Given the description of an element on the screen output the (x, y) to click on. 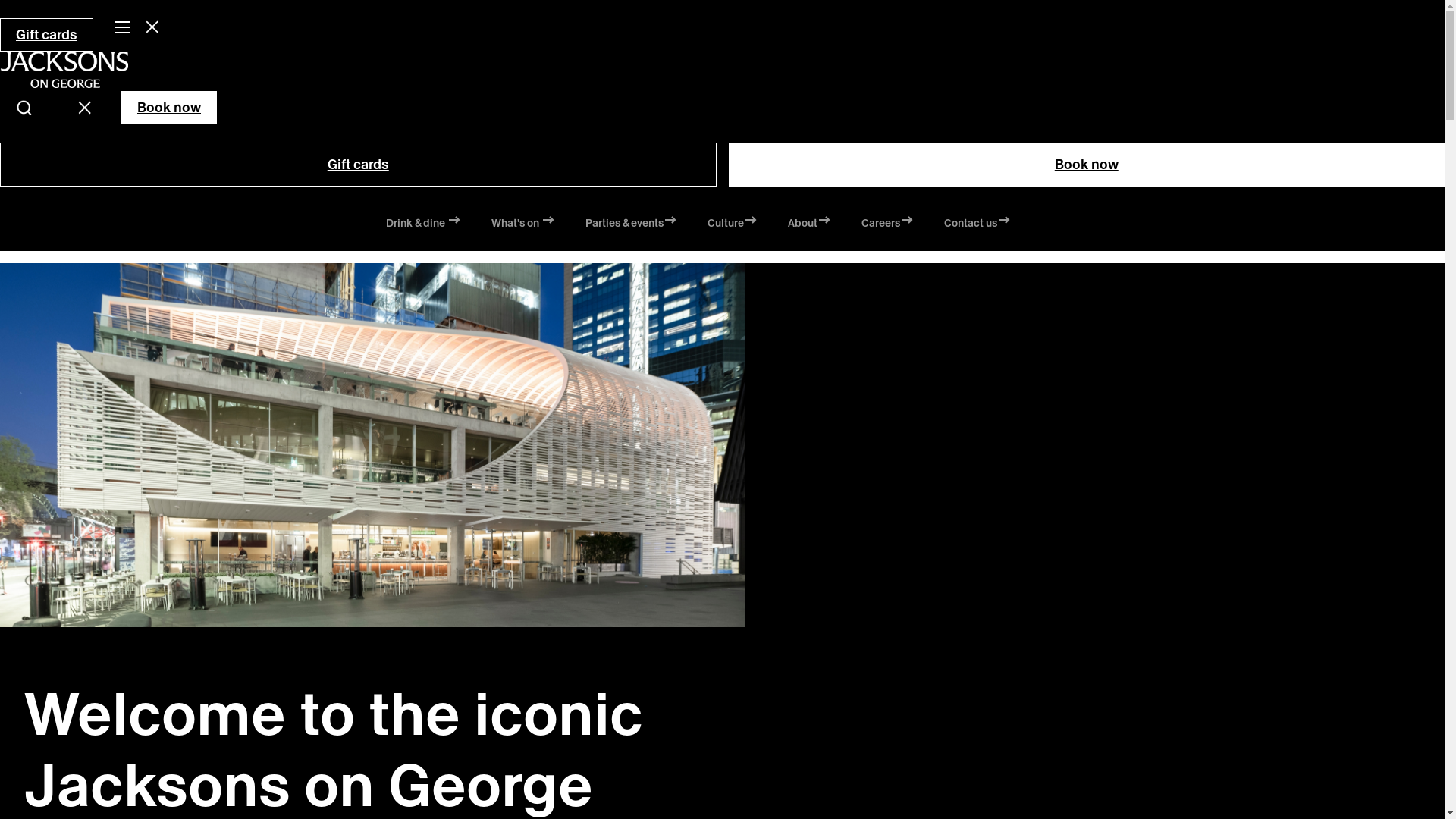
Careers Element type: text (887, 225)
Gift cards Element type: text (46, 34)
Gift cards Element type: text (358, 164)
About Element type: text (808, 225)
Parties & events Element type: text (631, 225)
What's on Element type: text (523, 225)
Culture Element type: text (731, 225)
Book now Element type: text (1086, 164)
Book now Element type: text (168, 107)
Drink & dine Element type: text (422, 225)
Contact us Element type: text (976, 225)
